Given the description of an element on the screen output the (x, y) to click on. 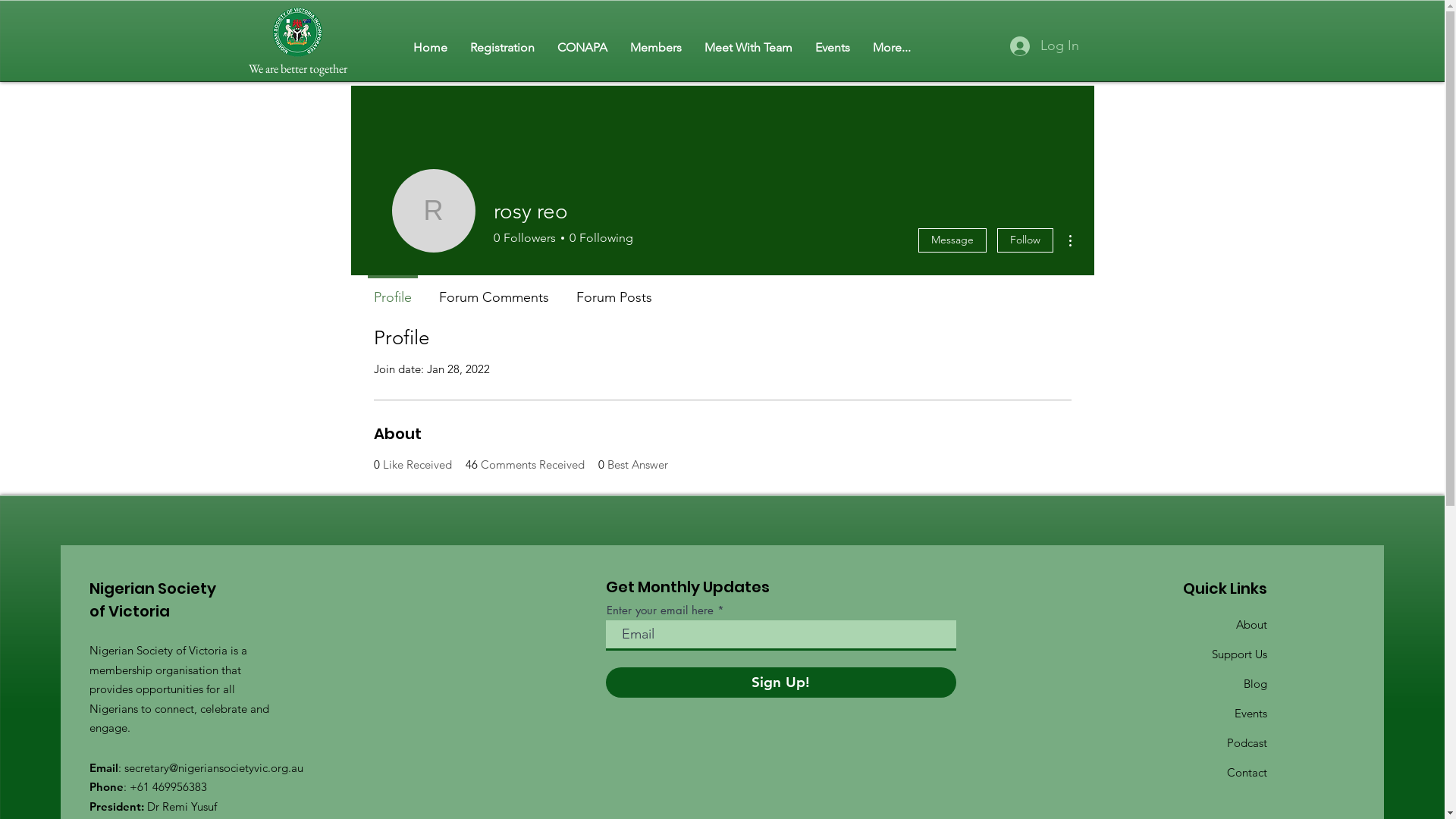
Podcast Element type: text (1246, 742)
Forum Posts Element type: text (613, 290)
CONAPA Element type: text (582, 47)
Message Element type: text (951, 240)
Events Element type: text (1250, 713)
Home Element type: text (429, 47)
Sign Up! Element type: text (780, 682)
Blog Element type: text (1255, 683)
Log In Element type: text (1044, 45)
About Element type: text (1251, 624)
0
Followers Element type: text (523, 237)
Members Element type: text (655, 47)
Profile Element type: text (391, 290)
Support Us Element type: text (1239, 653)
Forum Comments Element type: text (492, 290)
Contact Element type: text (1246, 772)
Registration Element type: text (502, 47)
0
Following Element type: text (598, 237)
We are better together Element type: text (296, 68)
secretary@nigeriansocietyvic.org.au Element type: text (213, 767)
Follow Element type: text (1024, 240)
Events Element type: text (832, 47)
Meet With Team Element type: text (748, 47)
